Given the description of an element on the screen output the (x, y) to click on. 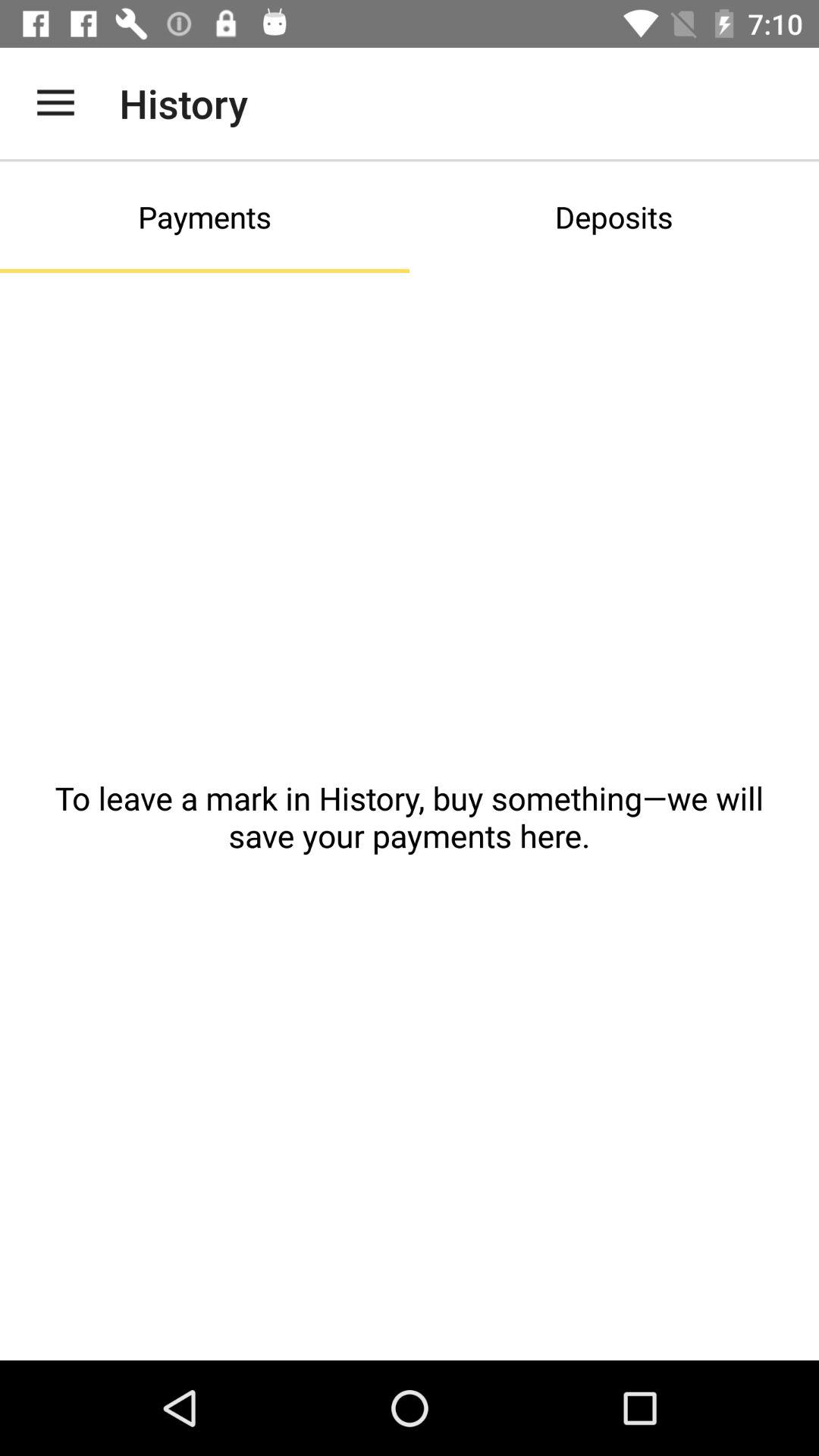
turn off the icon next to the history icon (55, 103)
